Given the description of an element on the screen output the (x, y) to click on. 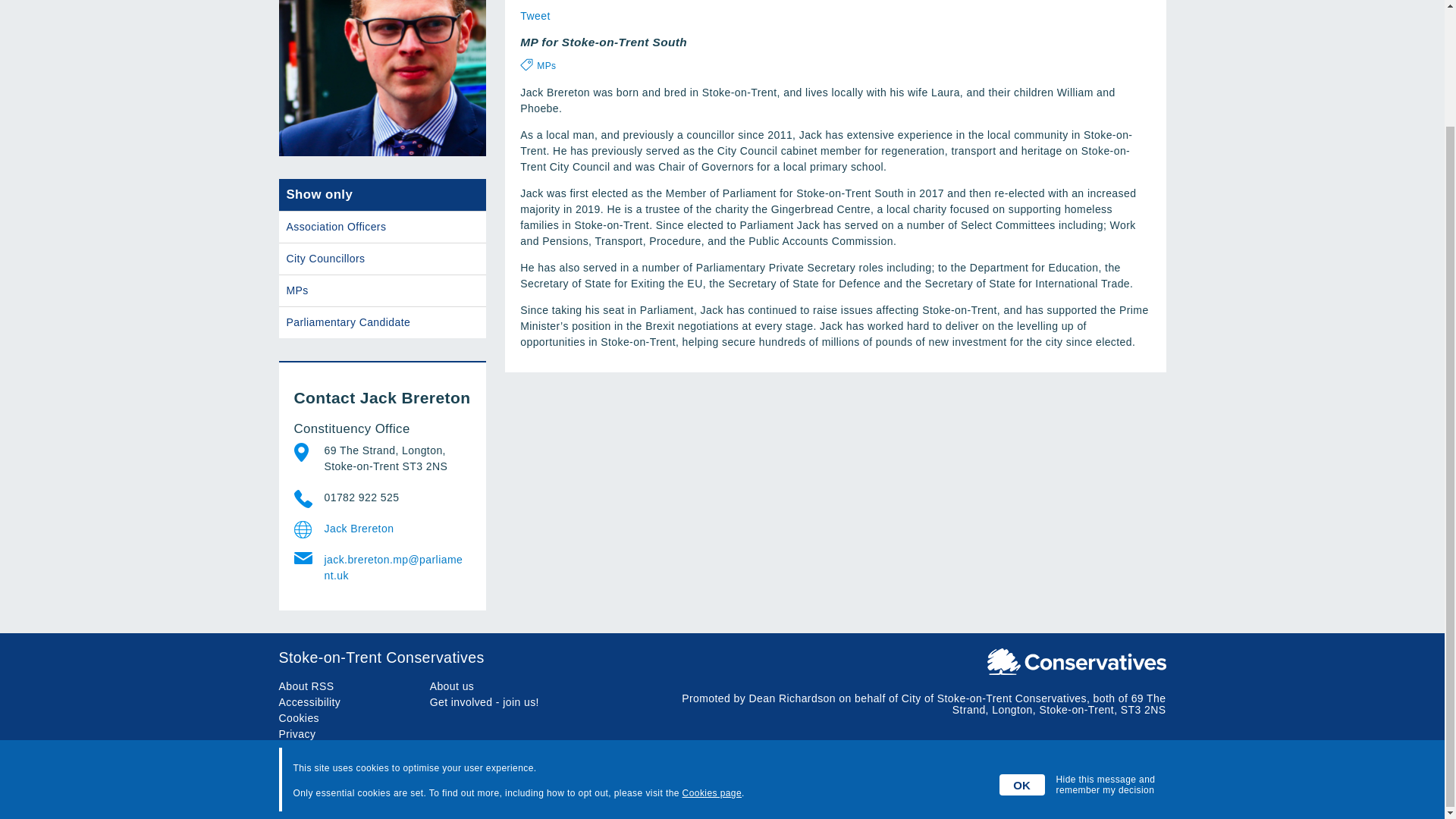
Association Officers (382, 226)
Cookies (299, 717)
Bluetree (1145, 793)
Get involved - join us! (483, 702)
Stoke-on-Trent Conservatives (722, 657)
Jack Brereton (394, 528)
Accessibility (309, 702)
Cookies page (711, 654)
Parliamentary Candidate (382, 322)
MPs (546, 65)
OK (1021, 645)
Tweet (534, 15)
City Councillors (382, 258)
About us (451, 686)
Privacy (297, 734)
